Given the description of an element on the screen output the (x, y) to click on. 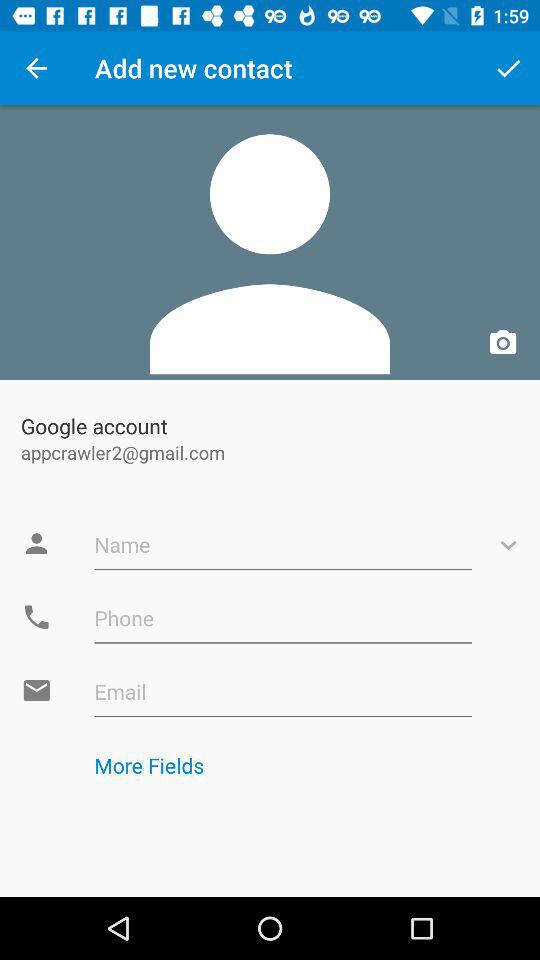
turn on item to the right of the add new contact item (508, 67)
